Given the description of an element on the screen output the (x, y) to click on. 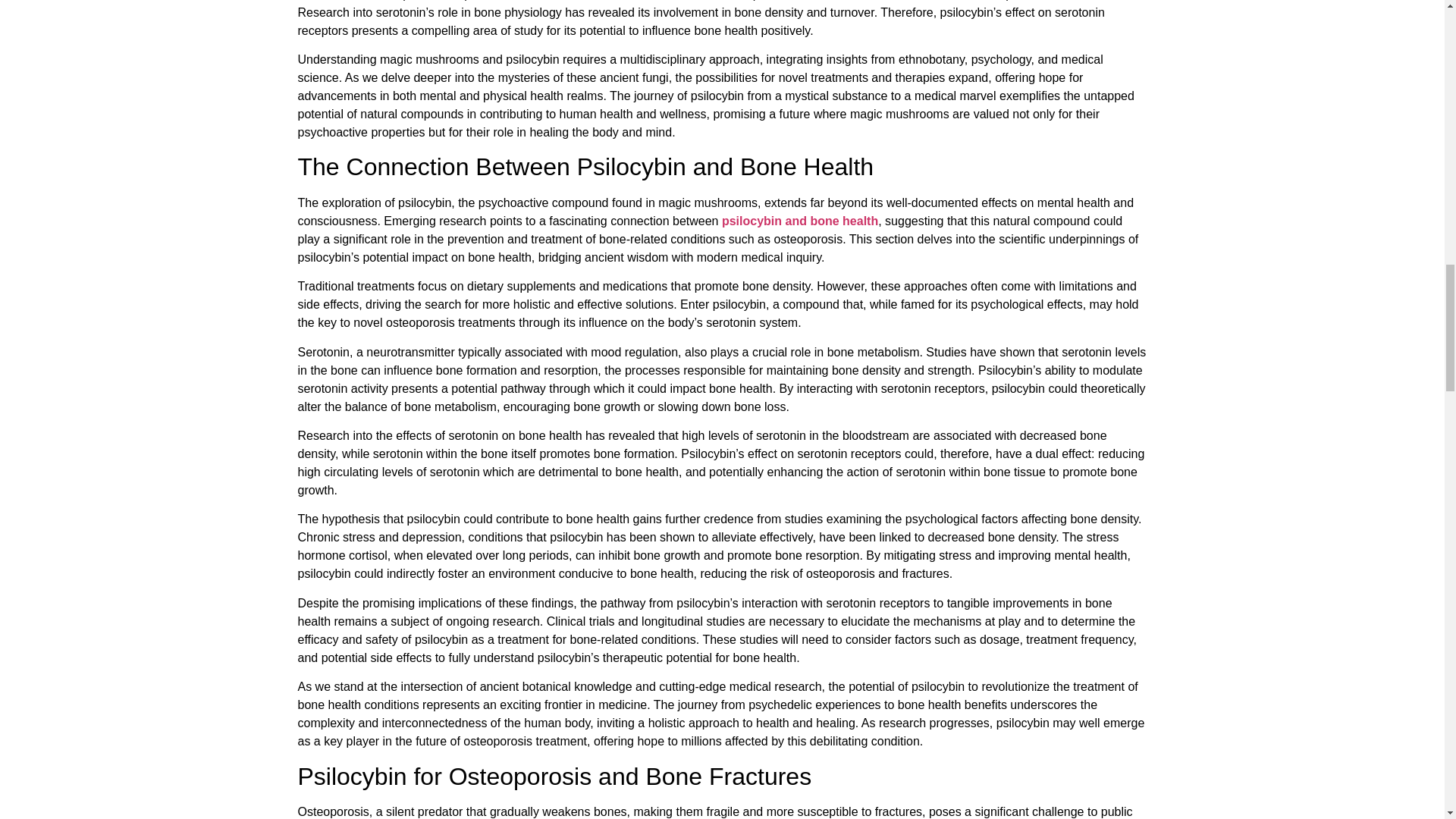
psilocybin and bone health (799, 220)
